Given the description of an element on the screen output the (x, y) to click on. 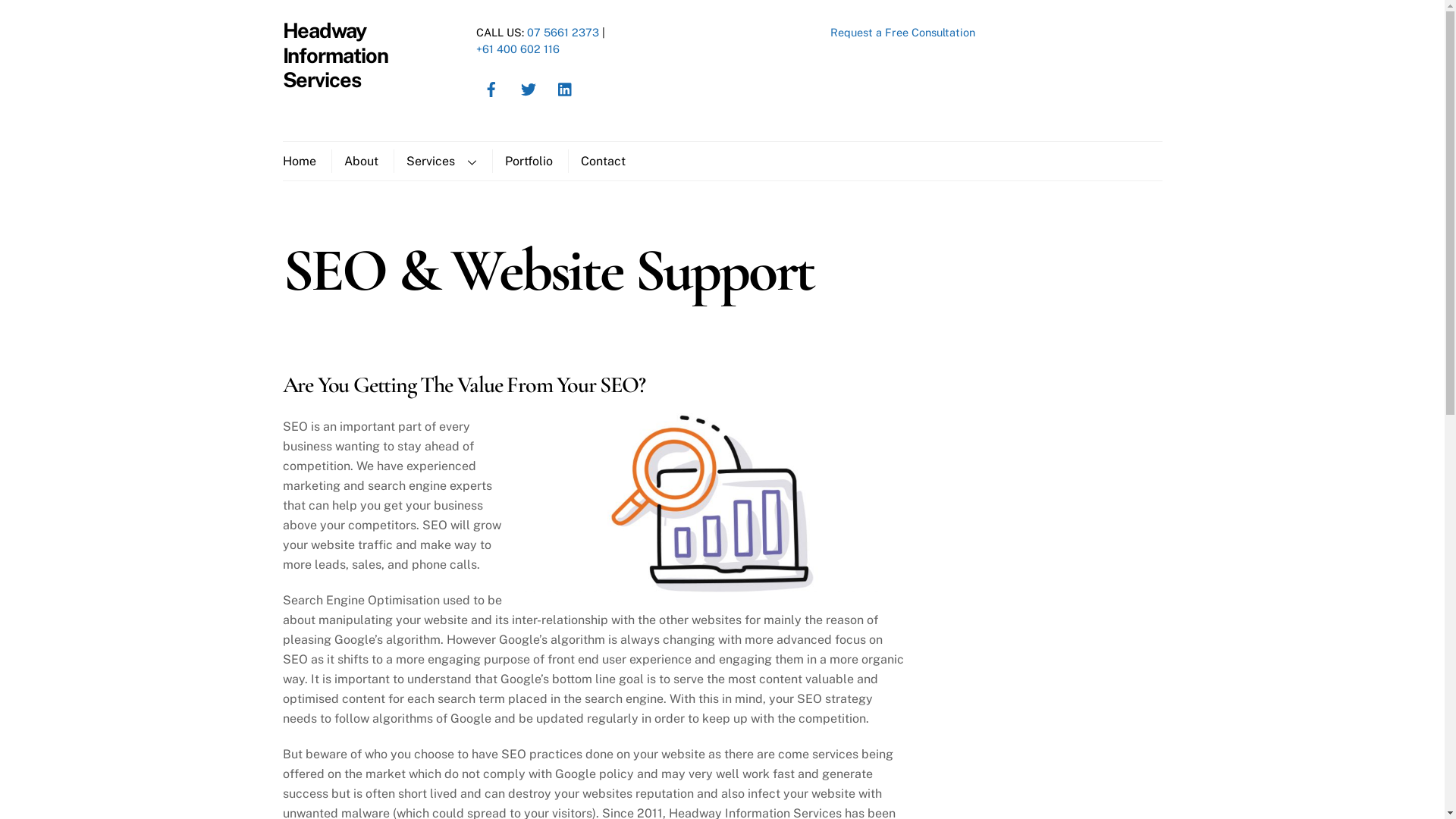
+61 400 602 116 Element type: text (517, 48)
Services Element type: text (440, 160)
Home Element type: text (304, 160)
Portfolio Element type: text (527, 160)
Request a Free Consultation Element type: text (902, 31)
About Element type: text (359, 160)
Headway Information Services Element type: text (334, 54)
07 5661 2373 Element type: text (563, 31)
Contact Element type: text (602, 160)
